Given the description of an element on the screen output the (x, y) to click on. 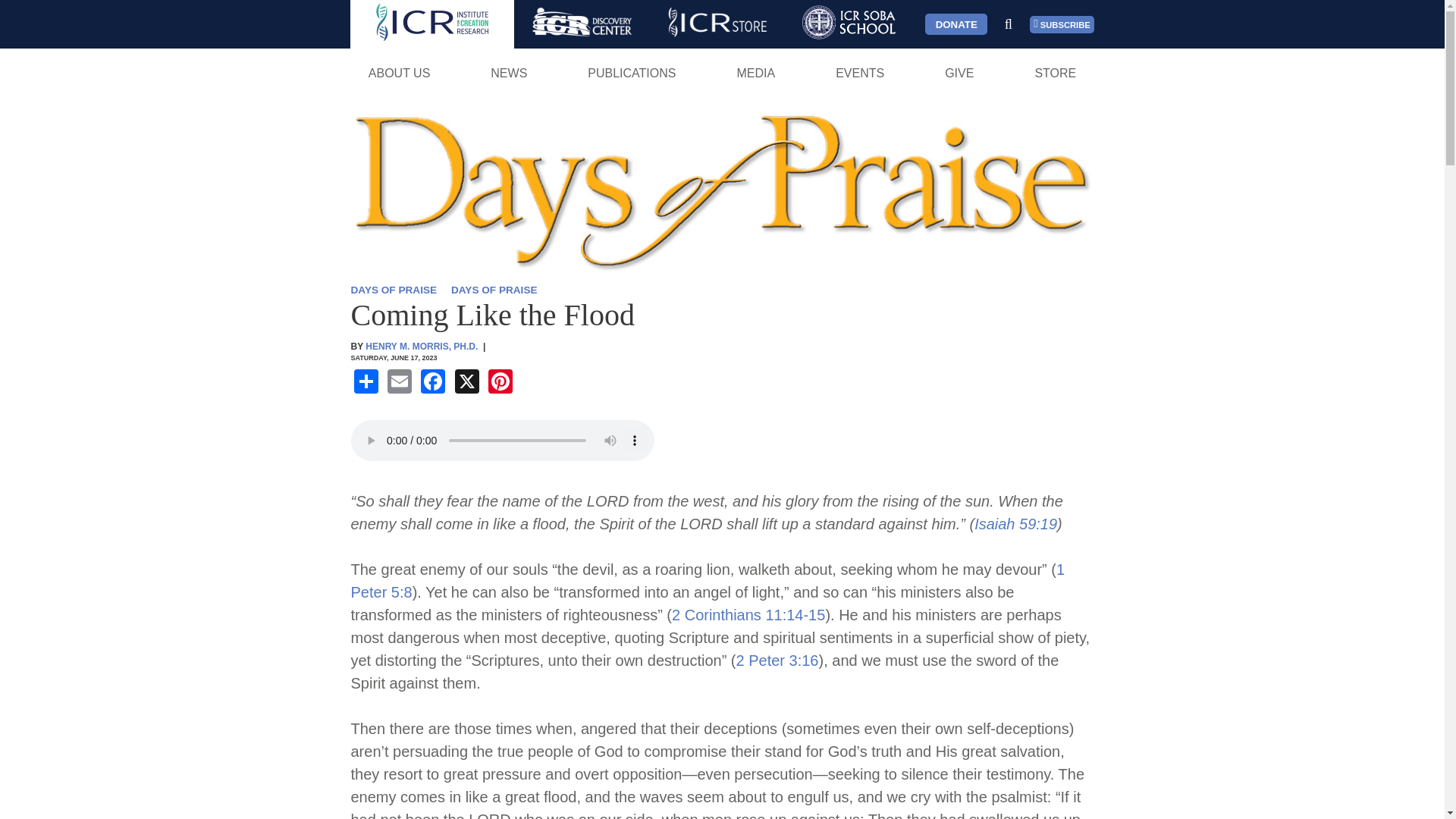
SUBSCRIBE (1061, 24)
PUBLICATIONS (631, 73)
DONATE (955, 24)
ABOUT US (399, 73)
NEWS (508, 73)
